Given the description of an element on the screen output the (x, y) to click on. 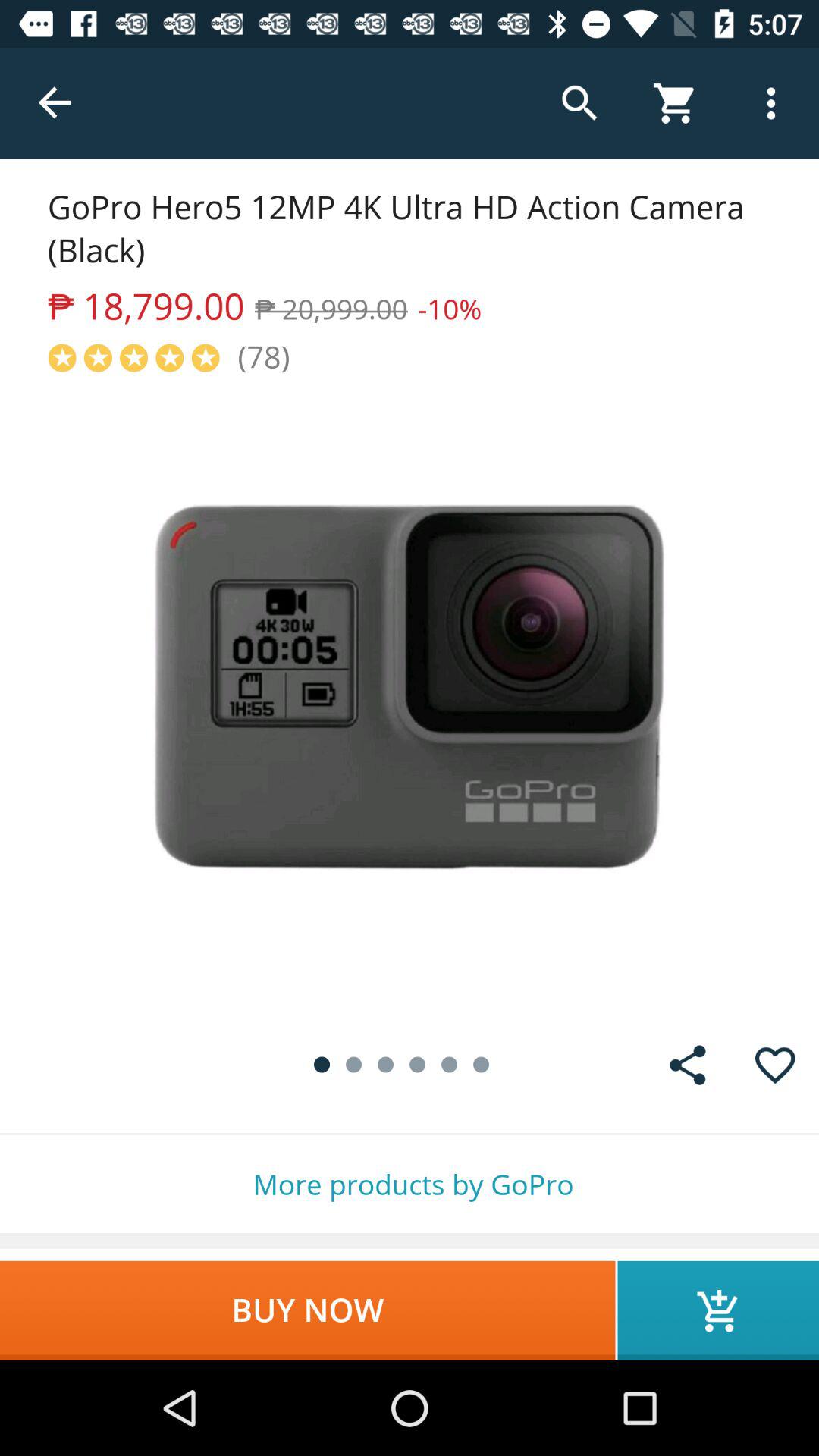
go back (55, 103)
